Given the description of an element on the screen output the (x, y) to click on. 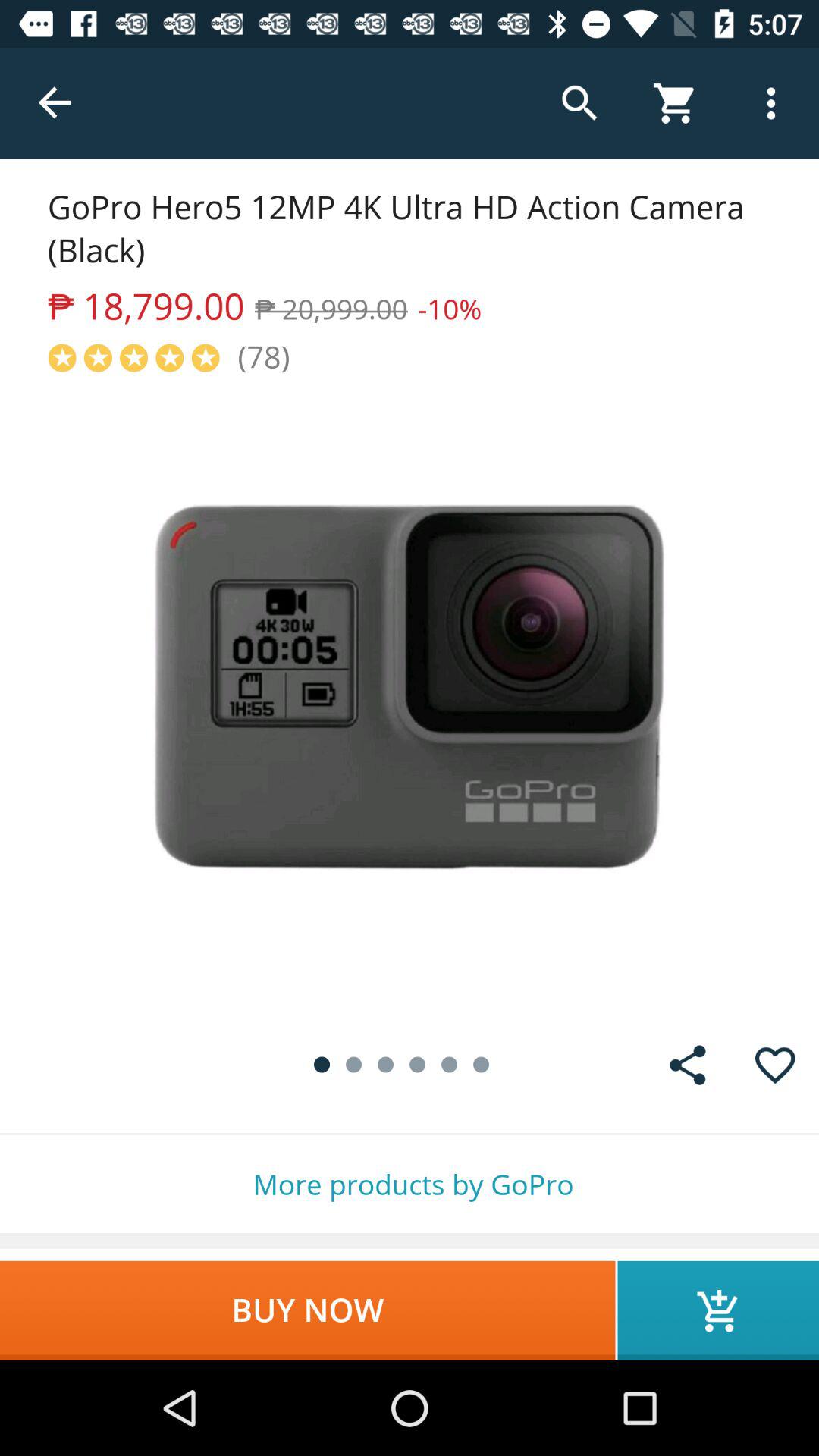
go back (55, 103)
